Given the description of an element on the screen output the (x, y) to click on. 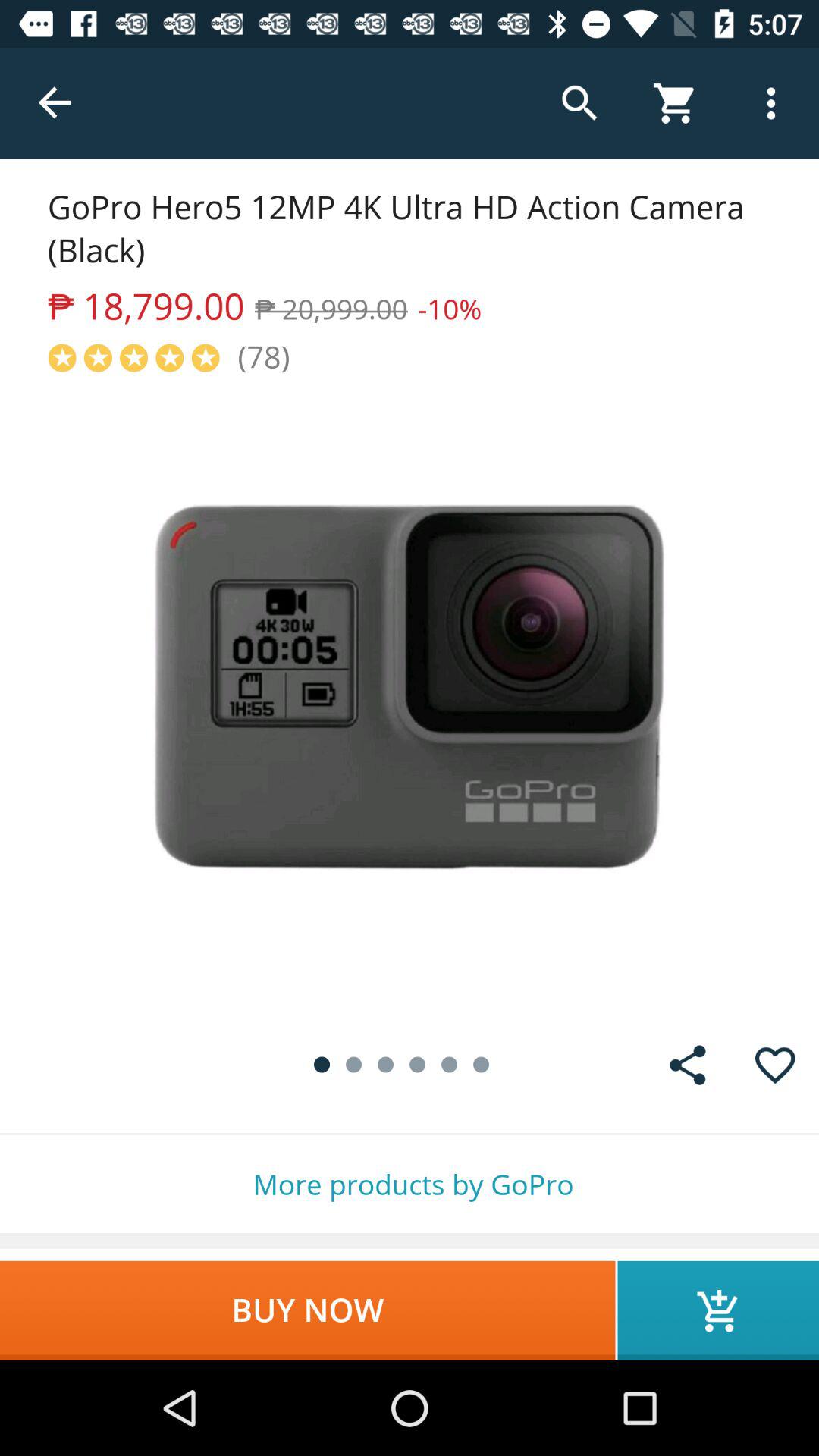
go back (55, 103)
